Given the description of an element on the screen output the (x, y) to click on. 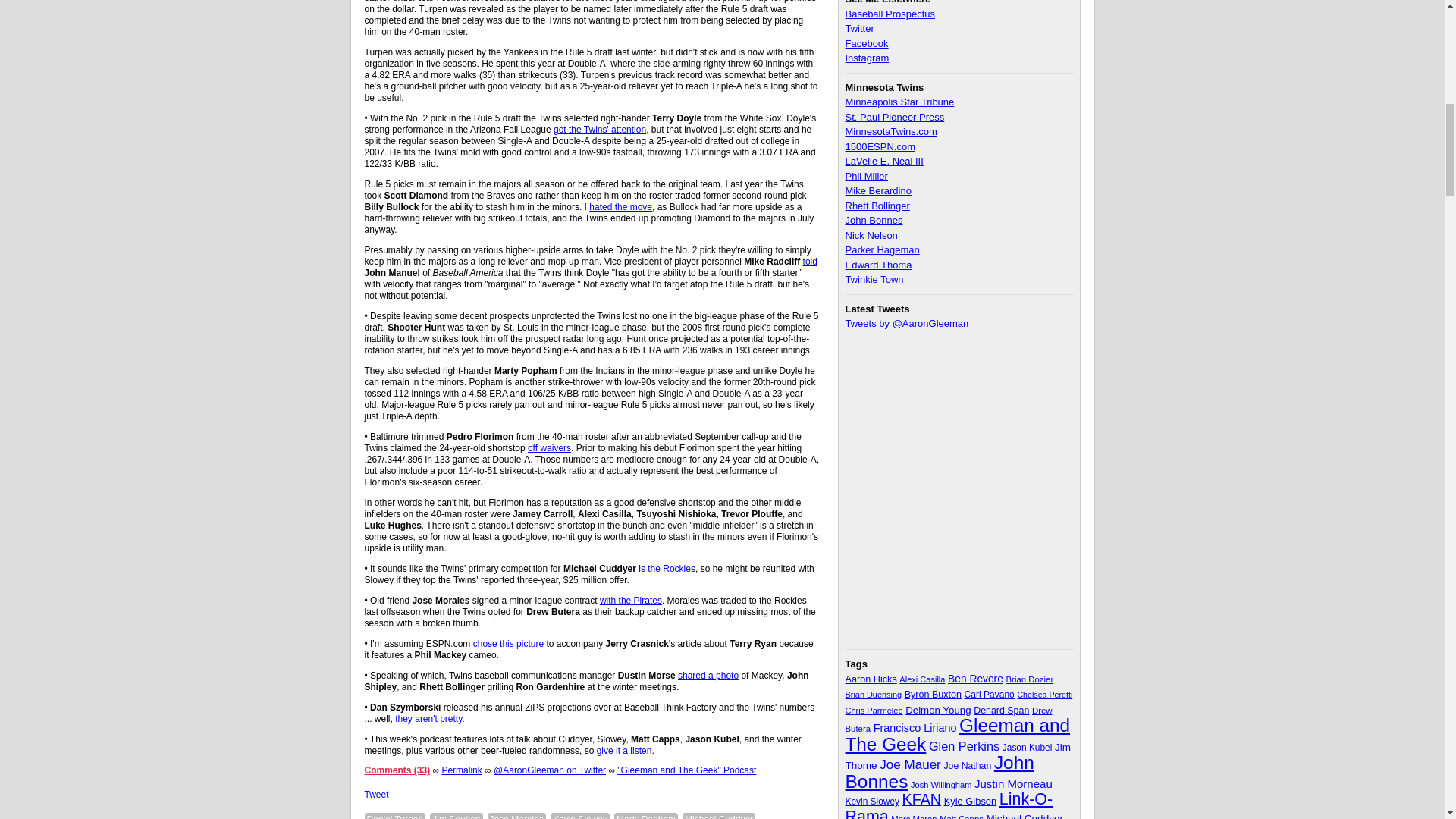
Jim Souhan (455, 816)
hated the move (620, 206)
"Gleeman and The Geek" Podcast (686, 769)
got the Twins' attention (599, 129)
Daniel Turpen (394, 816)
Tweet (376, 794)
give it a listen (624, 750)
they aren't pretty (427, 718)
Jose Morales (516, 816)
Permalink (461, 769)
Kevin Slowey (580, 816)
off waivers (548, 448)
is the Rockies (667, 568)
Marty Popham (646, 816)
Michael Cuddyer (718, 816)
